Given the description of an element on the screen output the (x, y) to click on. 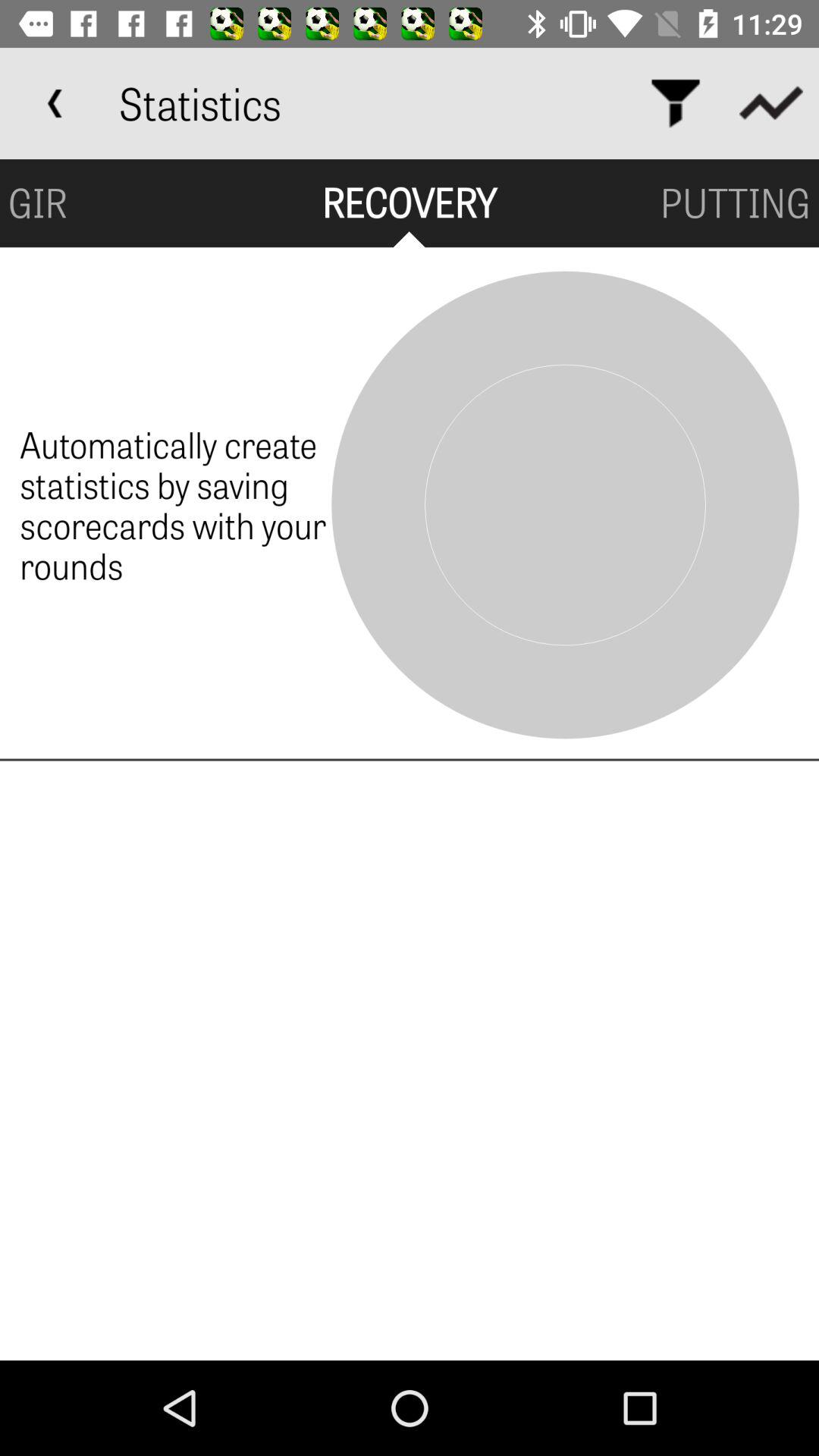
tap item to the left of statistics app (55, 103)
